Given the description of an element on the screen output the (x, y) to click on. 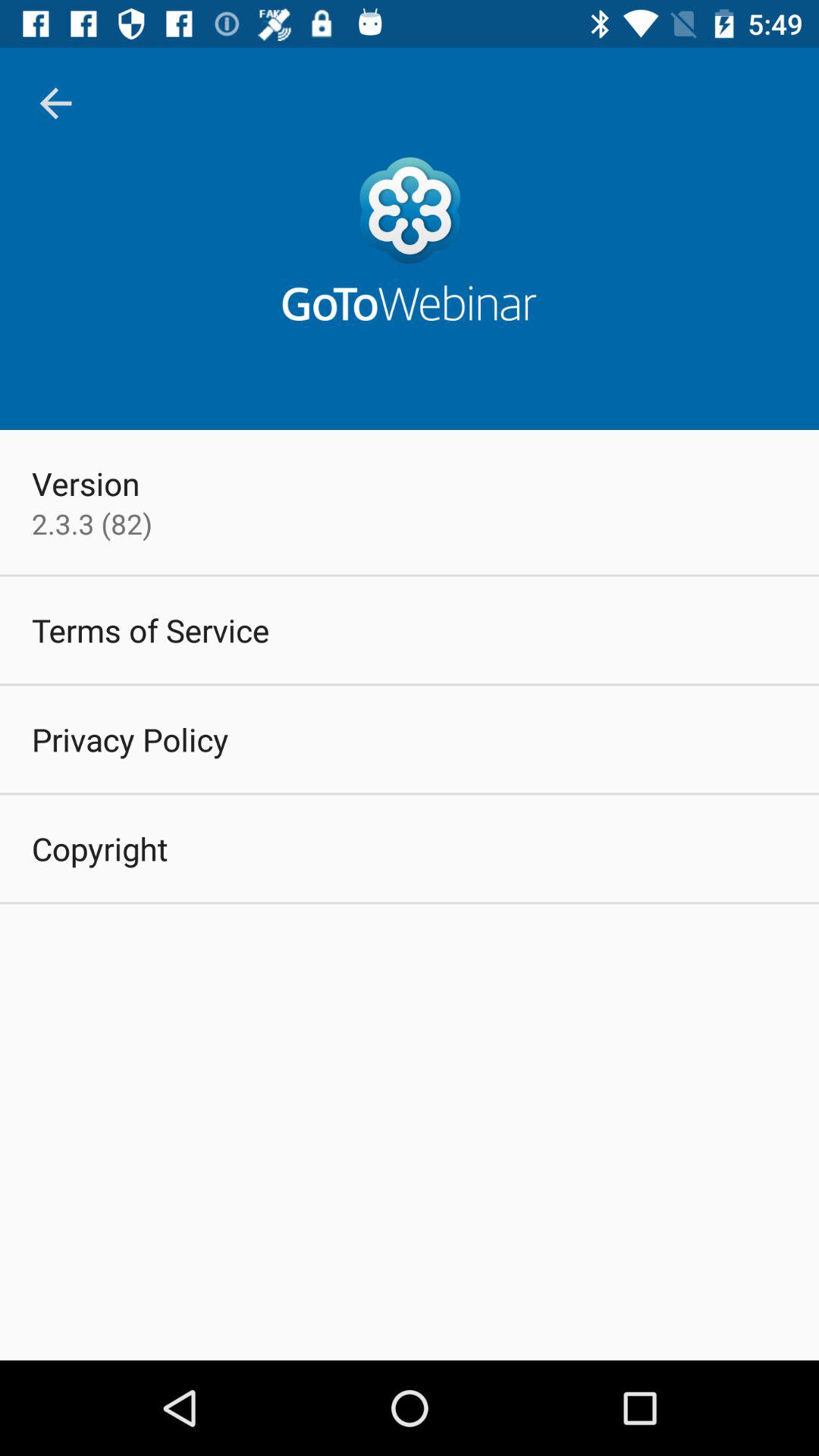
turn on privacy policy (129, 738)
